Given the description of an element on the screen output the (x, y) to click on. 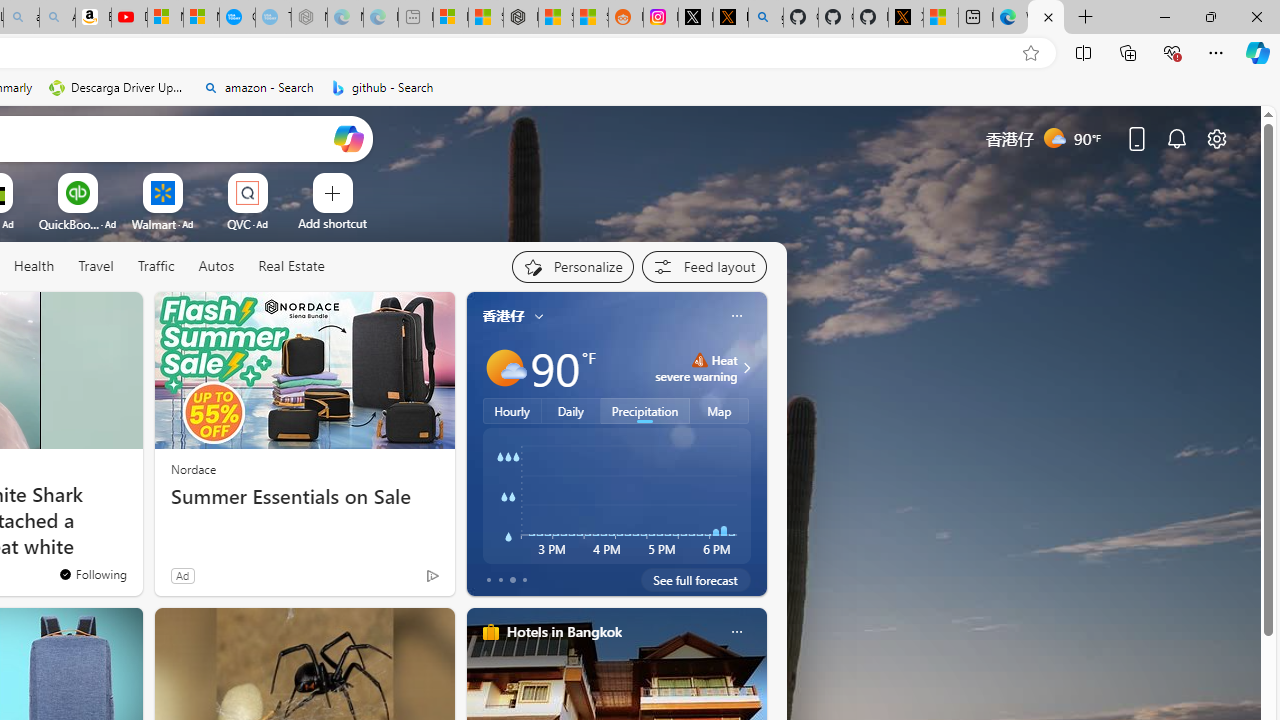
Health (33, 267)
Day 1: Arriving in Yemen (surreal to be here) - YouTube (129, 17)
Add a site (332, 223)
Nordace - Nordace has arrived Hong Kong - Sleeping (308, 17)
See full forecast (695, 579)
tab-3 (524, 579)
Hide this story (82, 315)
Opinion: Op-Ed and Commentary - USA TODAY (237, 17)
